Given the description of an element on the screen output the (x, y) to click on. 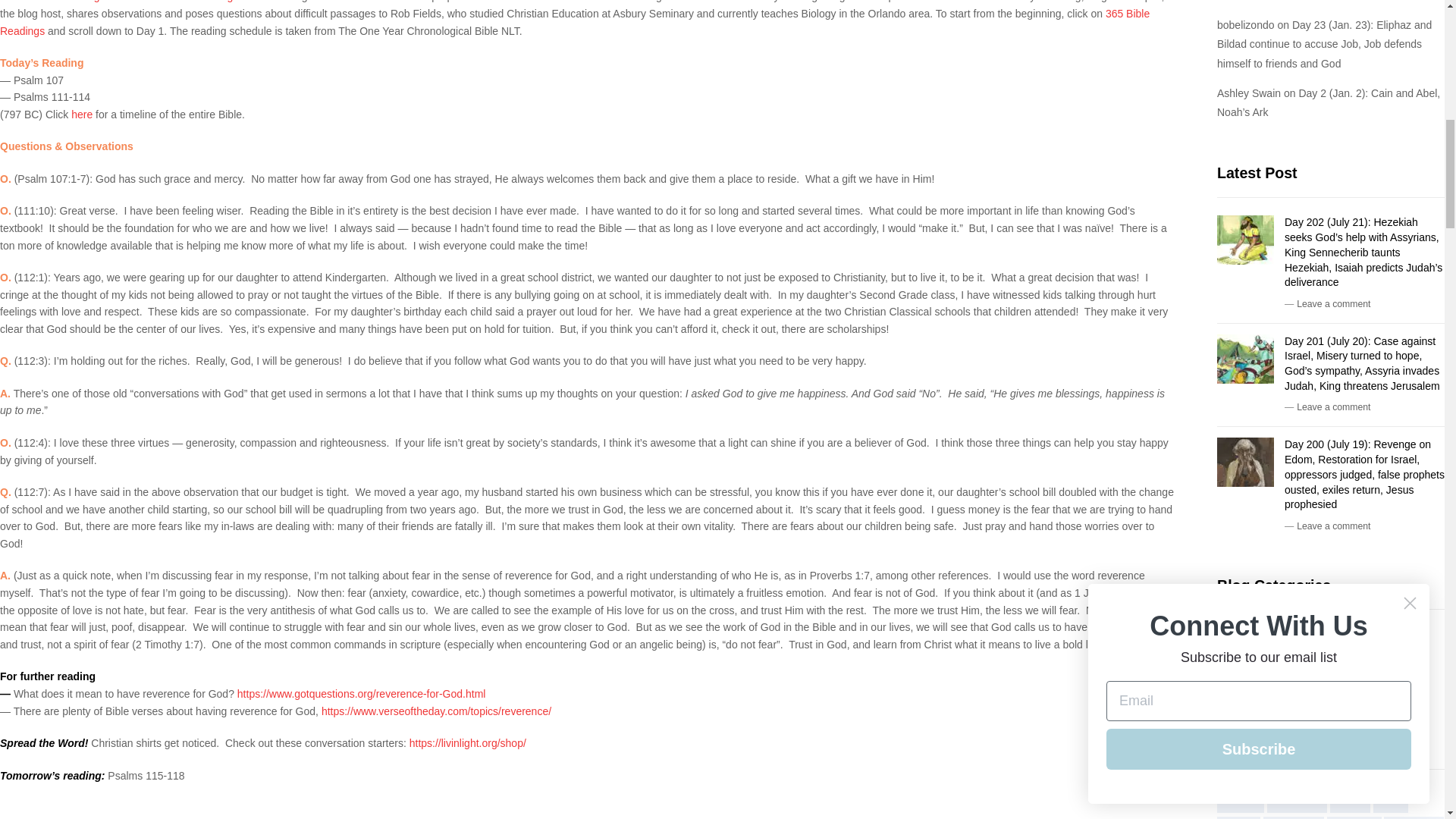
here (82, 114)
365 Bible Readings (575, 21)
